Given the description of an element on the screen output the (x, y) to click on. 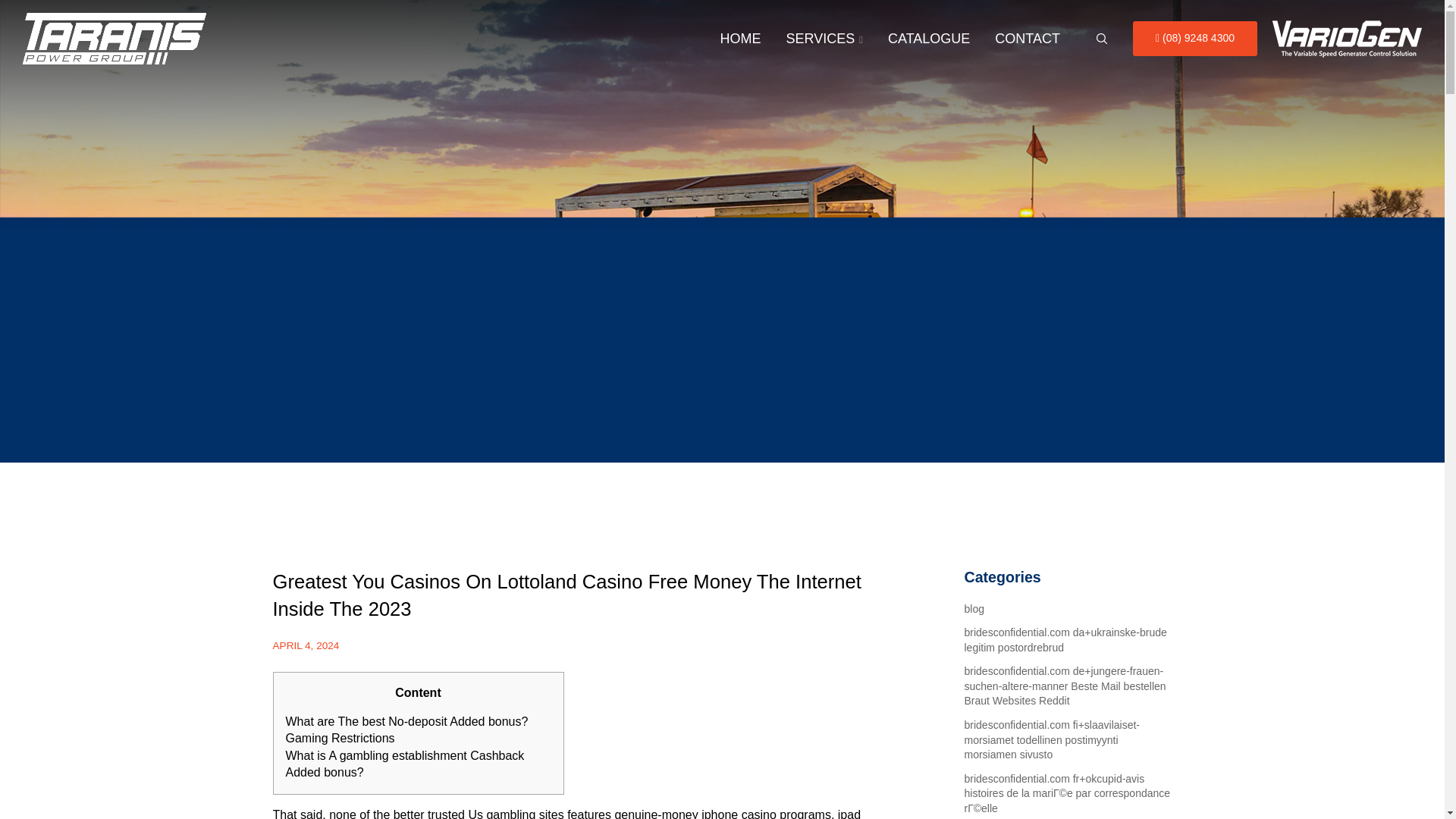
HOME (740, 39)
Gaming Restrictions (339, 738)
CONTACT (1027, 39)
SERVICES (823, 39)
CATALOGUE (928, 39)
What are The best No-deposit Added bonus? (406, 721)
blog (973, 607)
What is A gambling establishment Cashback Added bonus? (404, 763)
